Given the description of an element on the screen output the (x, y) to click on. 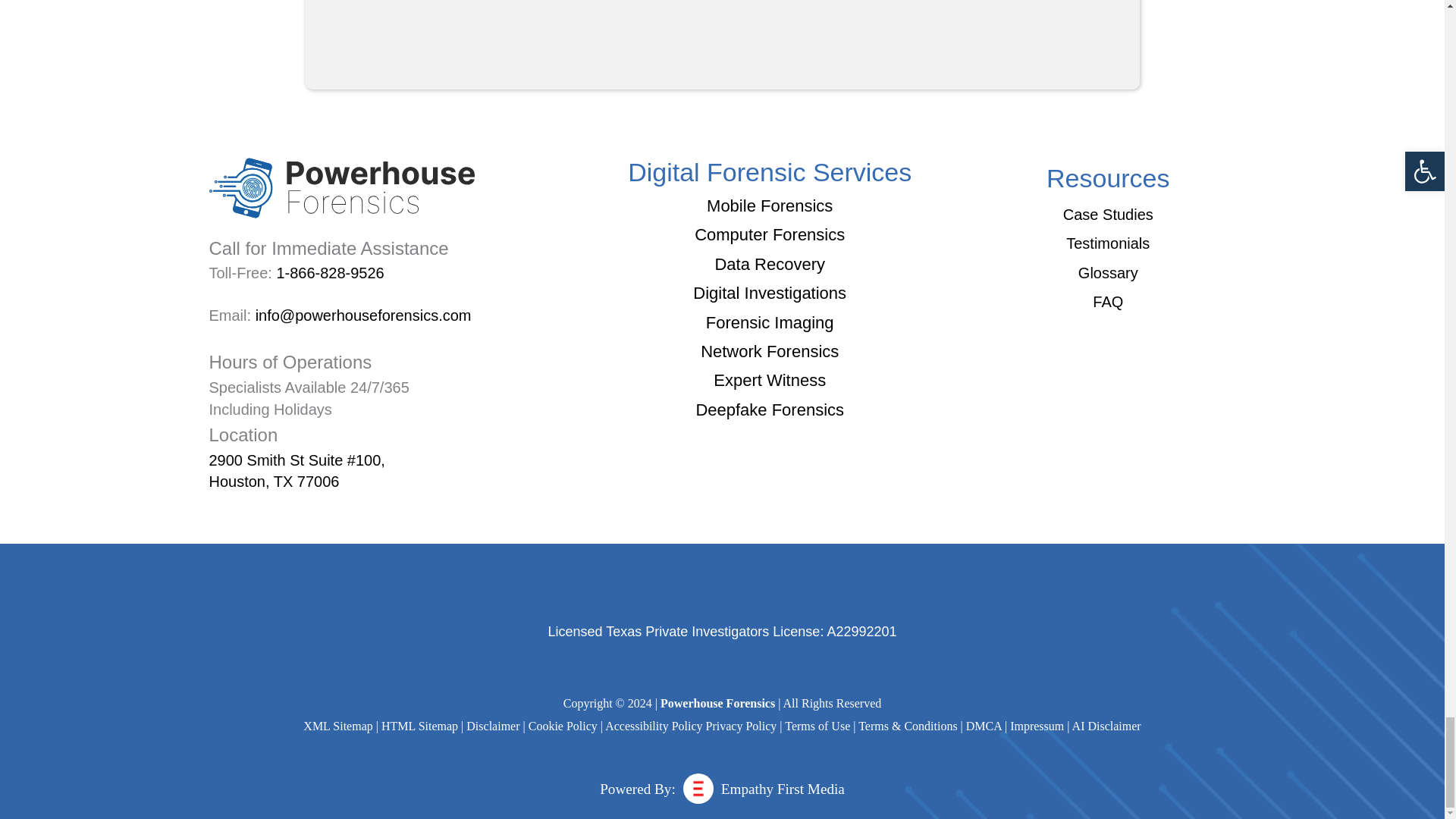
Powerhouse Forensics Logo - 01 (341, 188)
